Given the description of an element on the screen output the (x, y) to click on. 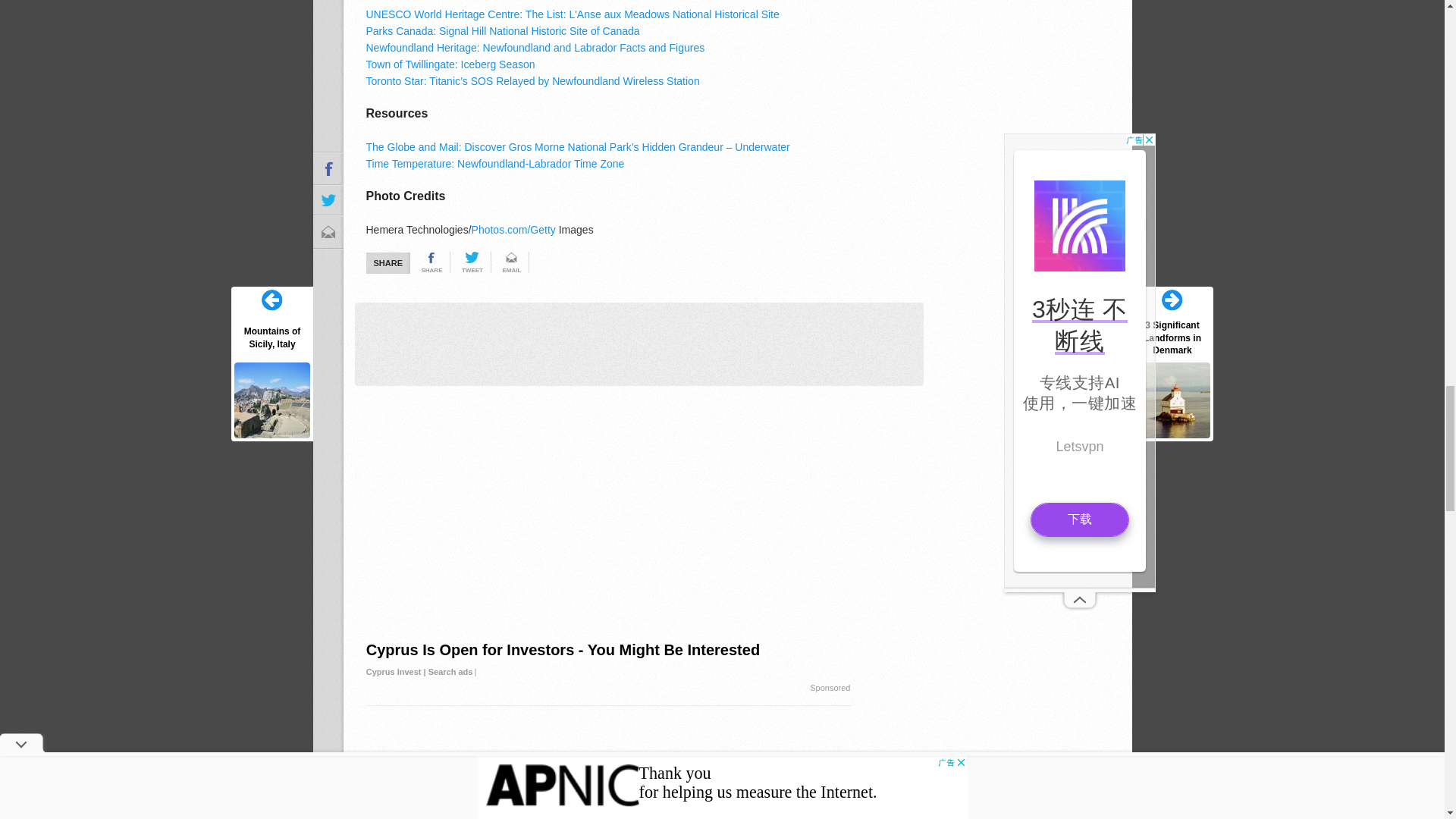
Cyprus Is Open for Investors - You Might Be Interested (608, 660)
